Given the description of an element on the screen output the (x, y) to click on. 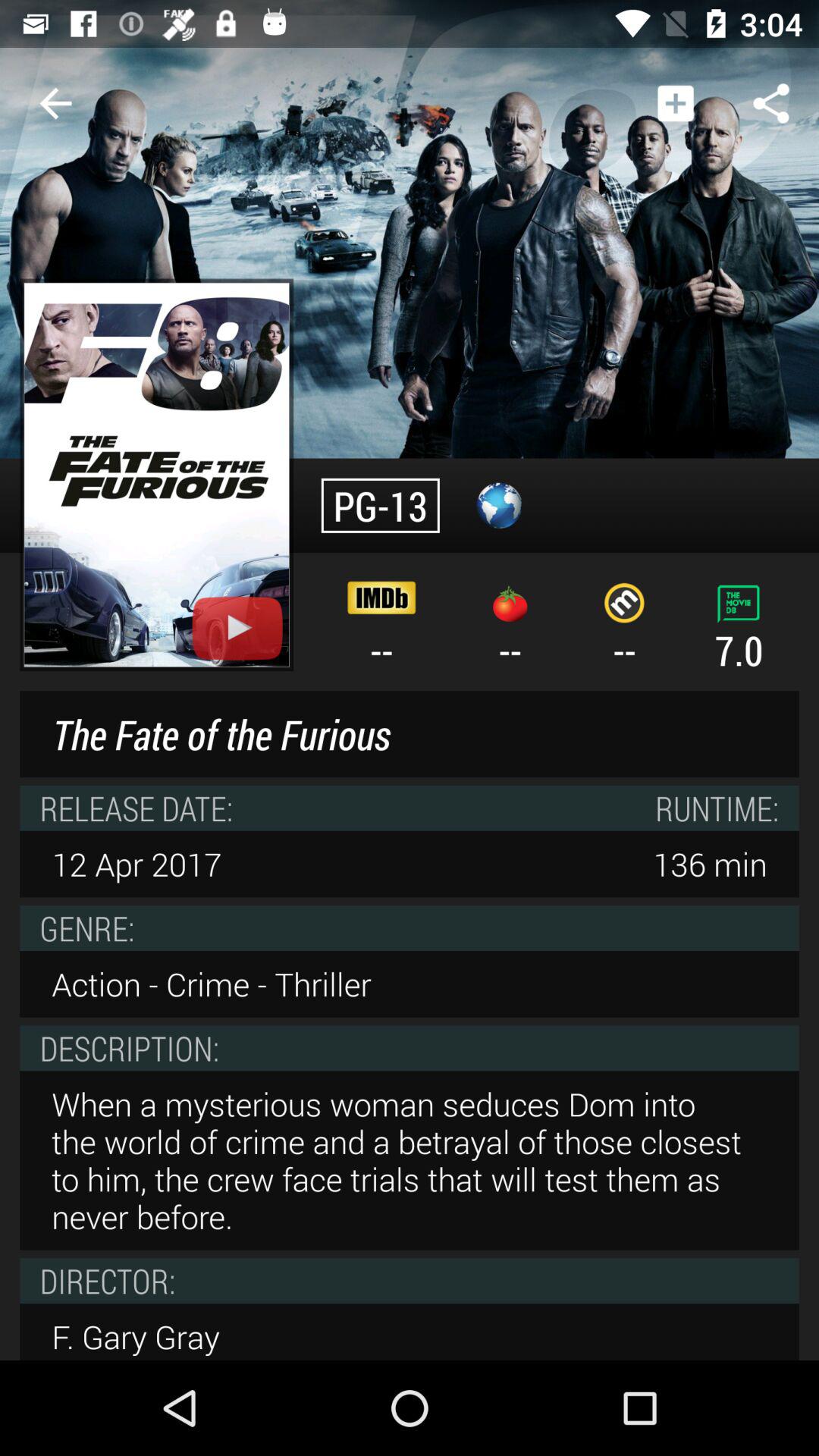
play the movie on youtube.com (156, 474)
